Given the description of an element on the screen output the (x, y) to click on. 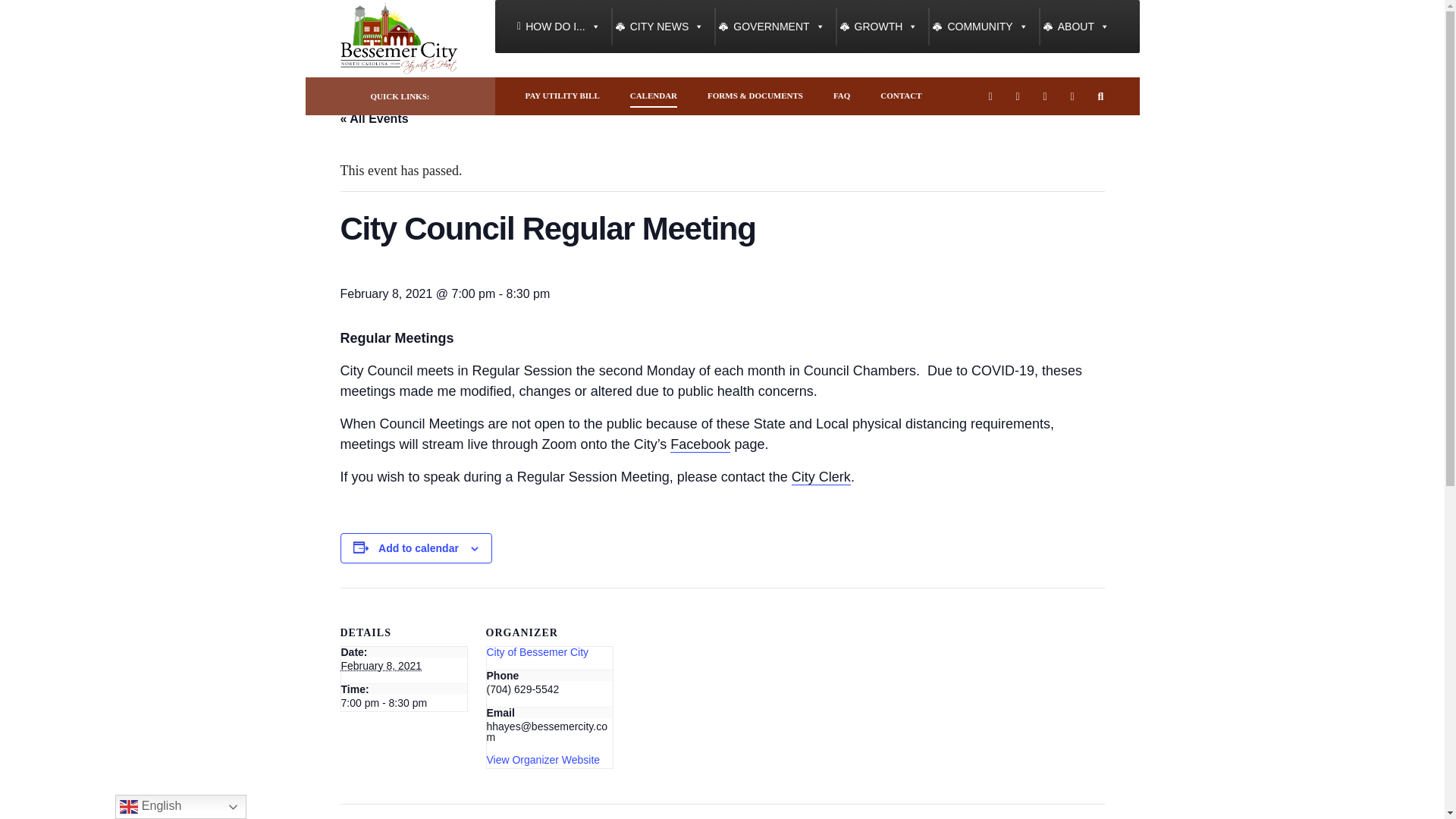
GOVERNMENT (770, 26)
Skip to content (312, 3)
CITY NEWS (659, 26)
2021-02-08 (403, 702)
HOW DO I... (558, 26)
2021-02-08 (381, 665)
City of Bessemer City (537, 652)
